Given the description of an element on the screen output the (x, y) to click on. 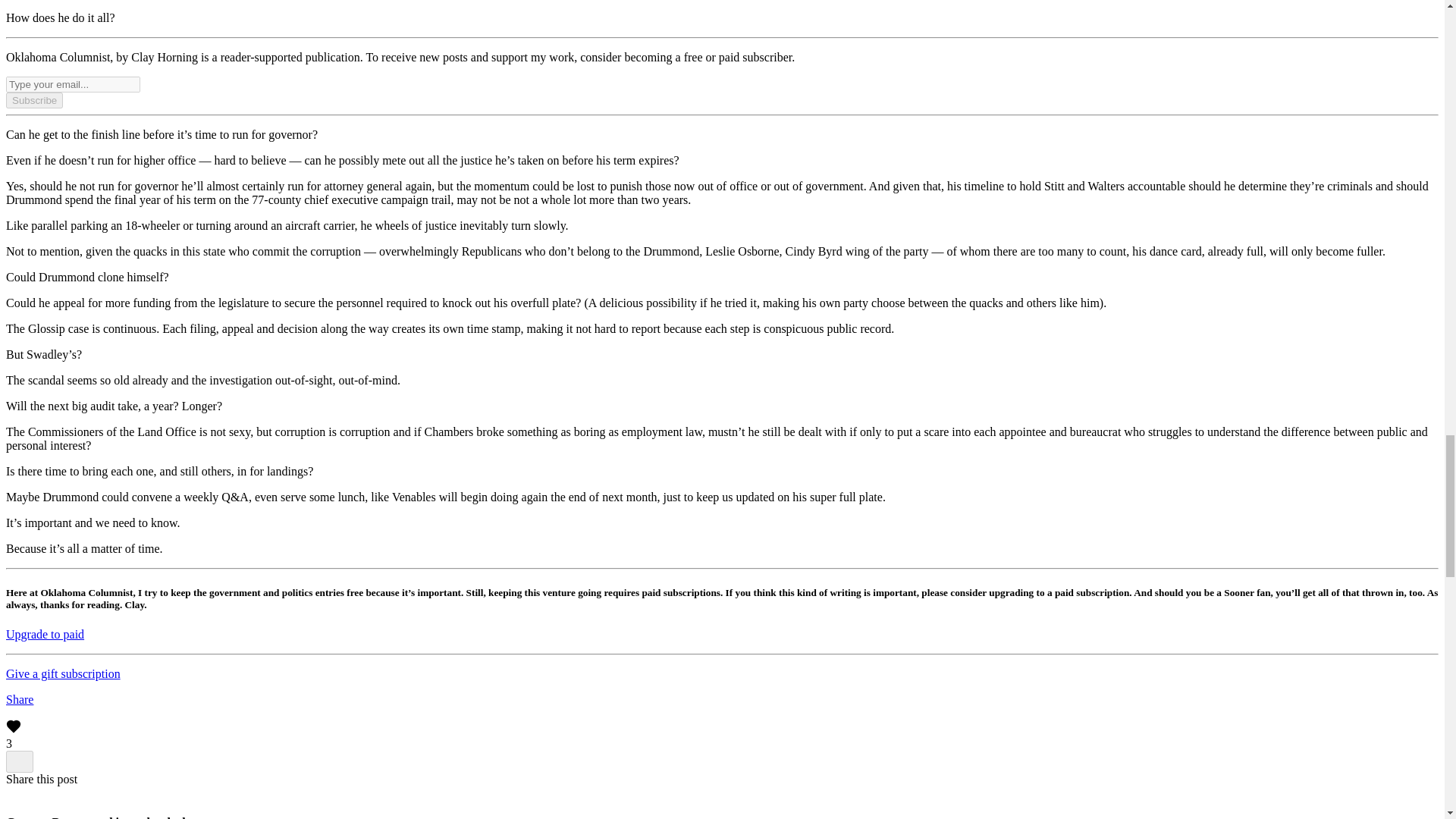
Share (19, 698)
Upgrade to paid (44, 634)
Give a gift subscription (62, 673)
Subscribe (33, 100)
